Given the description of an element on the screen output the (x, y) to click on. 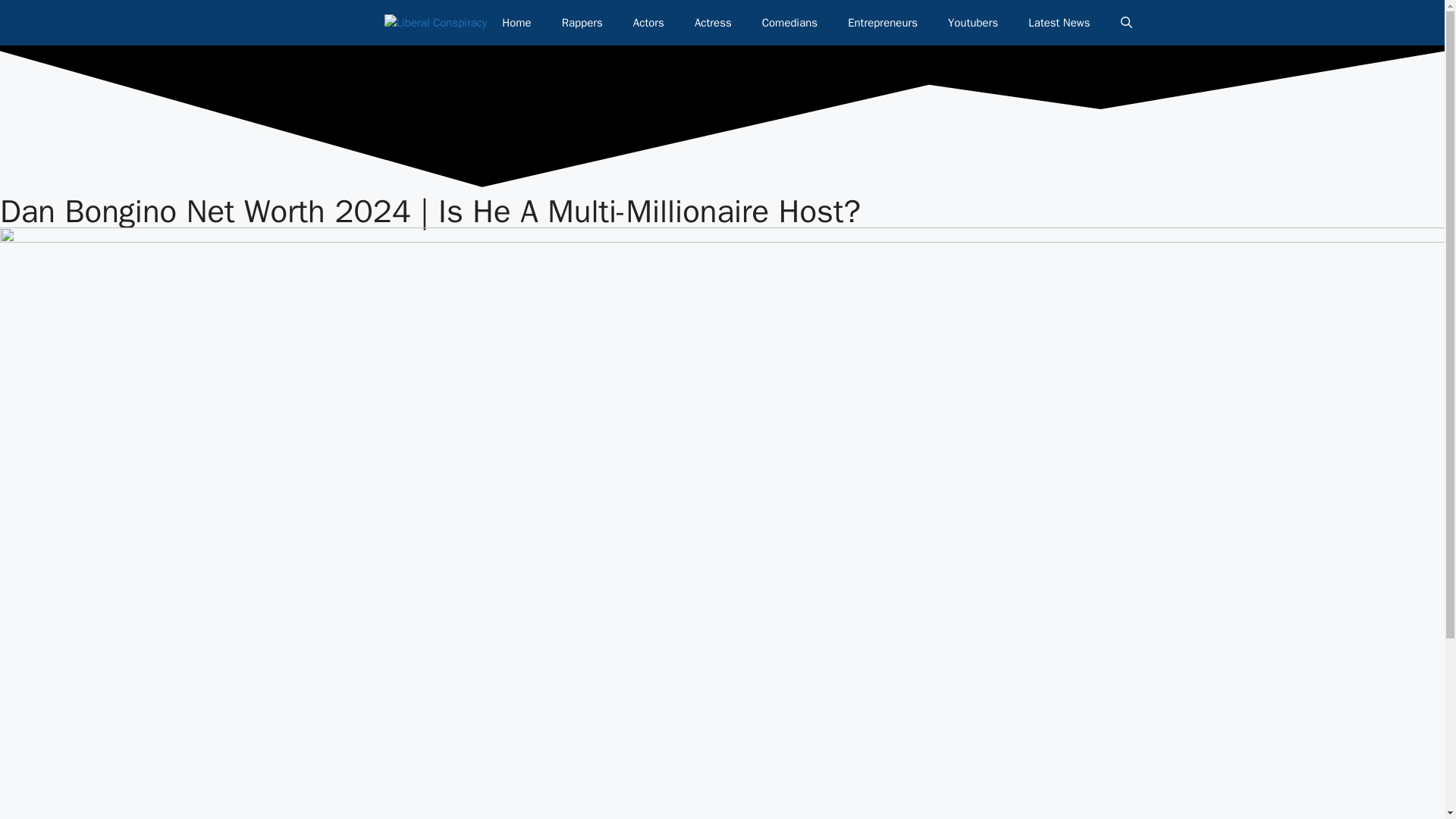
Actors (648, 22)
Rappers (582, 22)
Actress (712, 22)
Latest News (1059, 22)
Comedians (789, 22)
Liberal Conspiracy (435, 22)
Home (516, 22)
Youtubers (973, 22)
Entrepreneurs (882, 22)
